Given the description of an element on the screen output the (x, y) to click on. 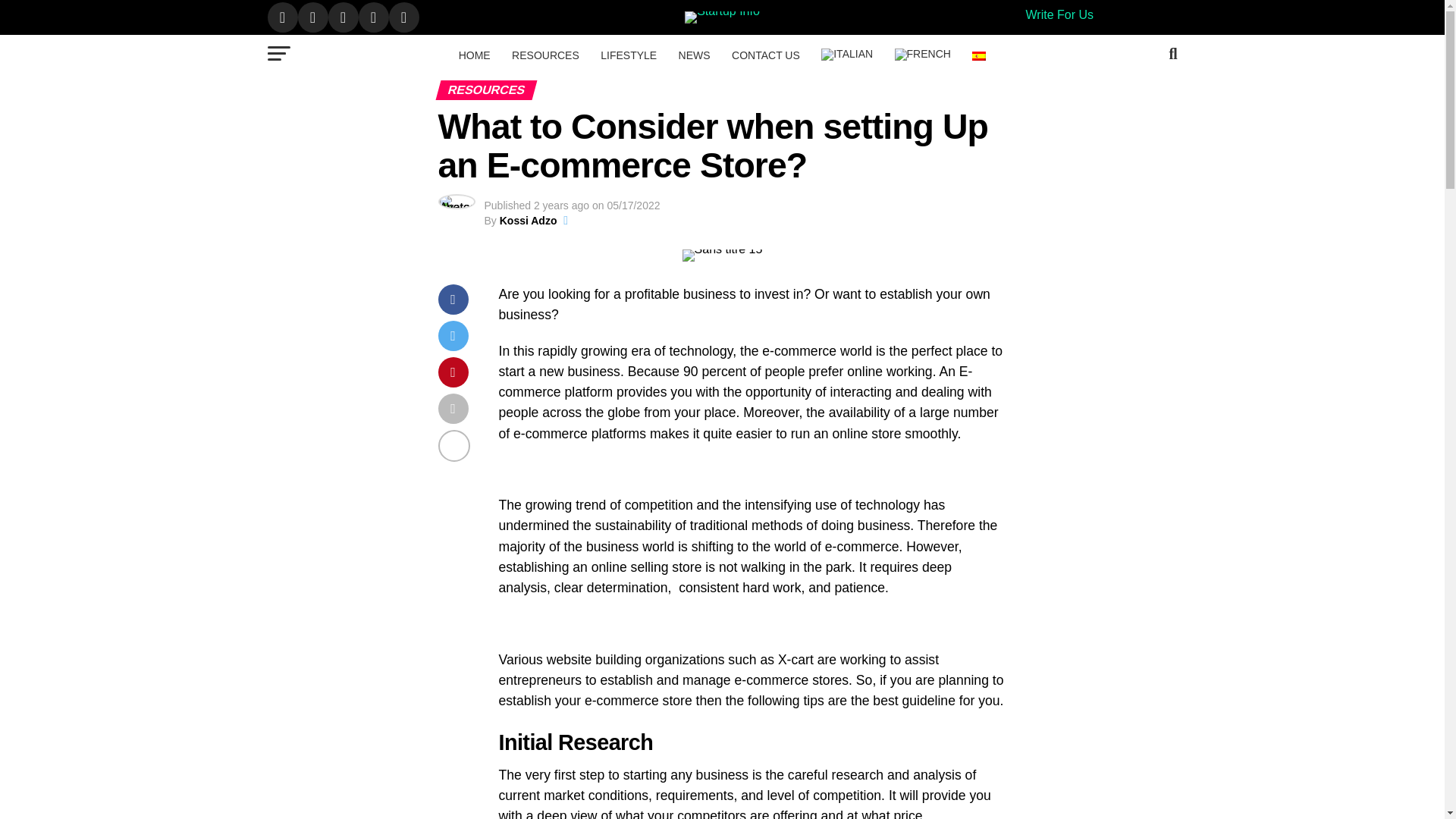
NEWS (694, 55)
RESOURCES (545, 55)
LIFESTYLE (628, 55)
HOME (474, 55)
Write For Us (1059, 14)
